Given the description of an element on the screen output the (x, y) to click on. 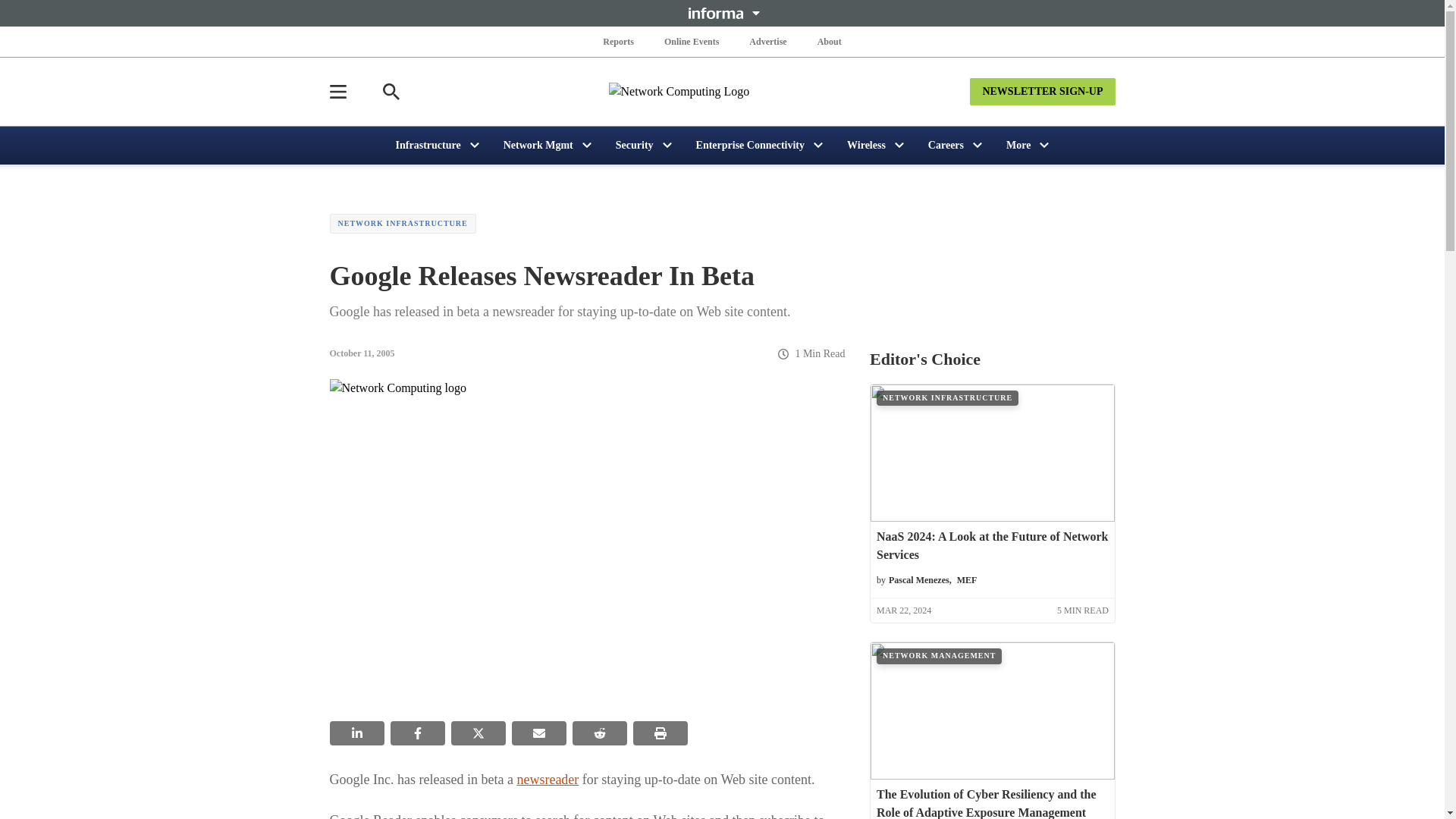
Network Computing Logo (721, 91)
About (828, 41)
Reports (618, 41)
Online Events (691, 41)
Advertise (767, 41)
NEWSLETTER SIGN-UP (1042, 90)
